Given the description of an element on the screen output the (x, y) to click on. 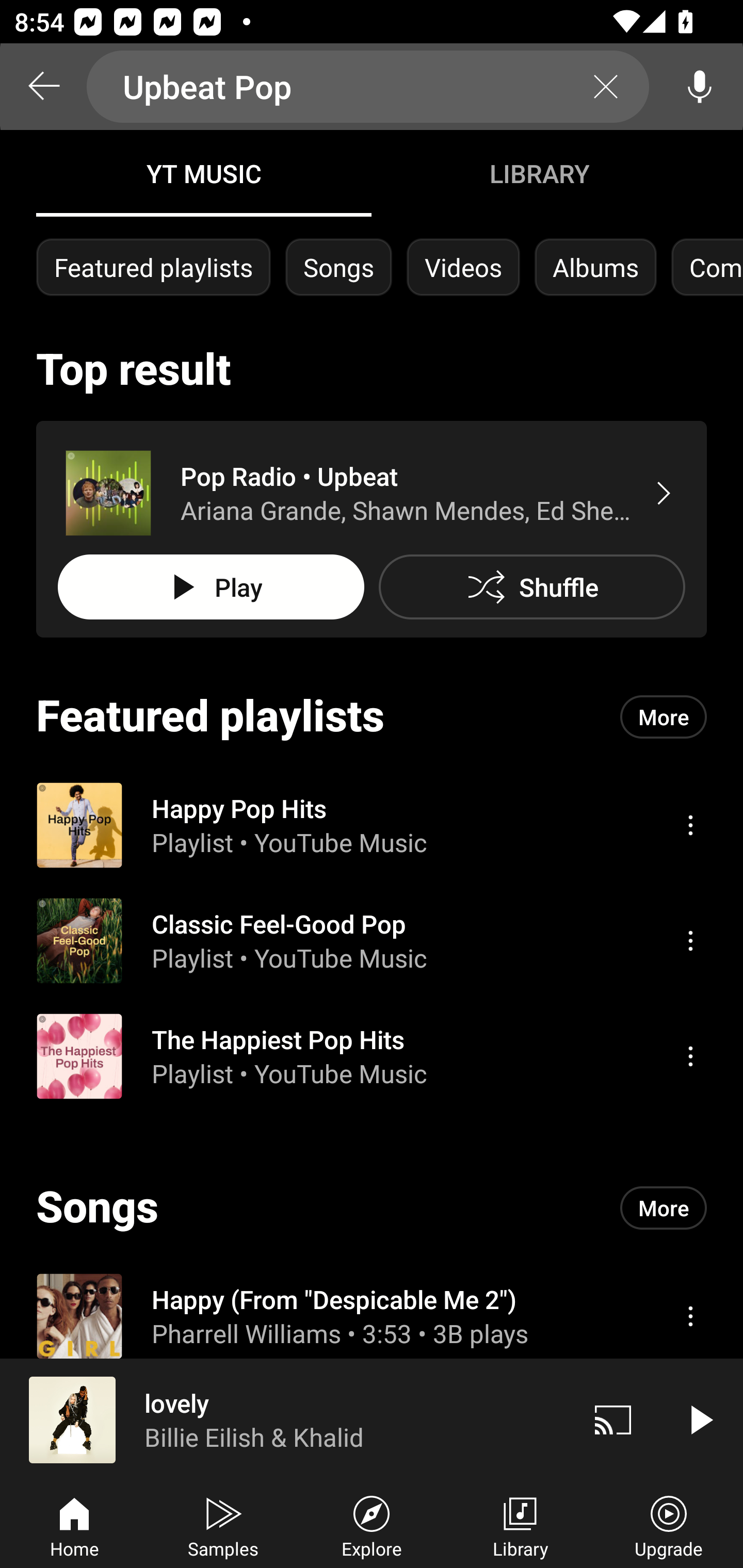
Search back (43, 86)
Upbeat Pop (367, 86)
Clear search (605, 86)
Voice search (699, 86)
Library LIBRARY (538, 173)
Play PLAY ALL (210, 587)
Shuffle (531, 587)
Featured playlists More More (371, 716)
More (663, 716)
Menu (690, 824)
Menu (690, 940)
Menu (690, 1056)
Songs More More (371, 1208)
More (663, 1207)
Menu (690, 1315)
lovely Billie Eilish & Khalid (284, 1419)
Cast. Disconnected (612, 1419)
Play video (699, 1419)
Home (74, 1524)
Samples (222, 1524)
Explore (371, 1524)
Library (519, 1524)
Upgrade (668, 1524)
